Given the description of an element on the screen output the (x, y) to click on. 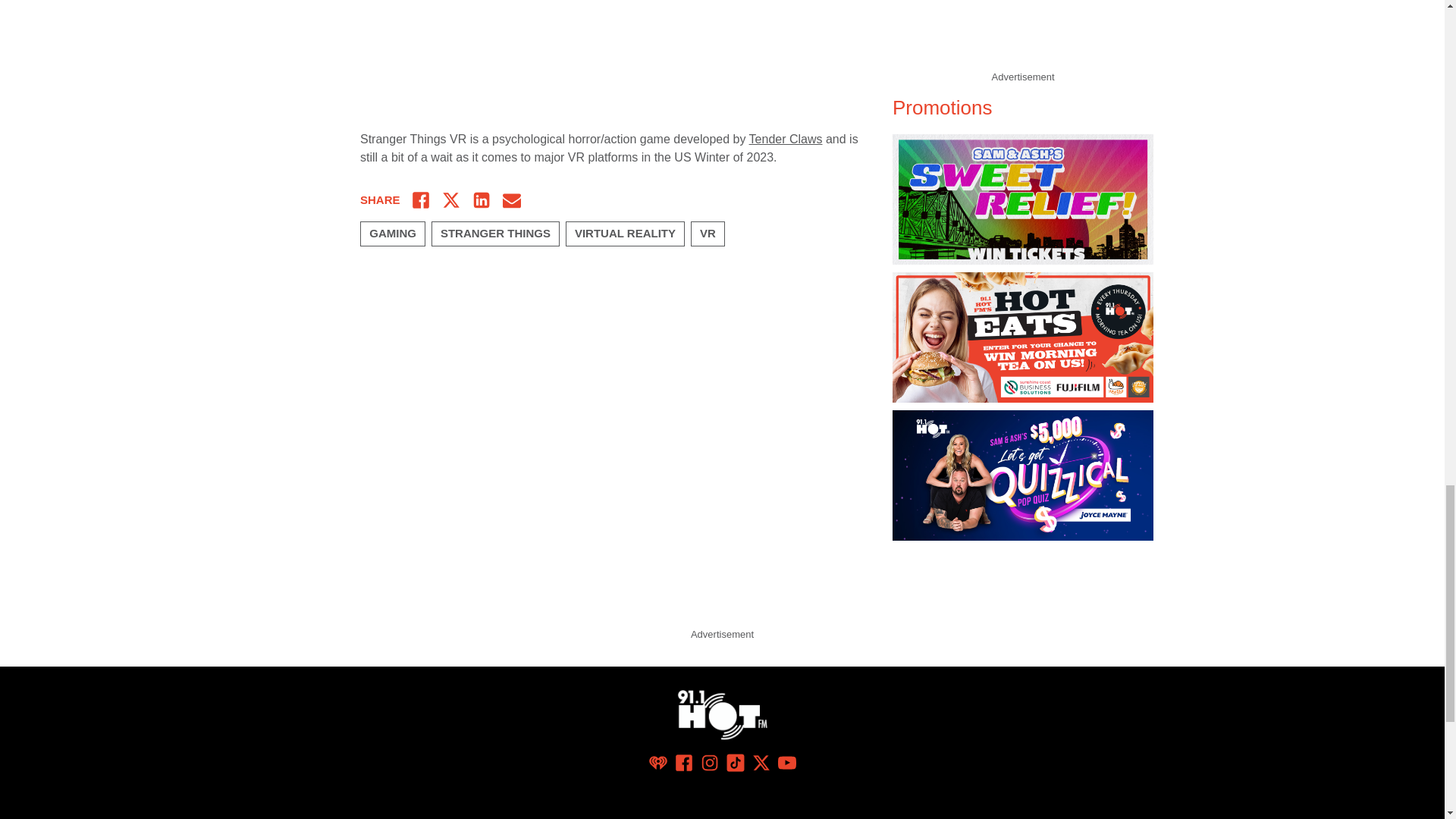
YouTube video player (571, 56)
3rd party ad content (721, 588)
3rd party ad content (1022, 32)
